Given the description of an element on the screen output the (x, y) to click on. 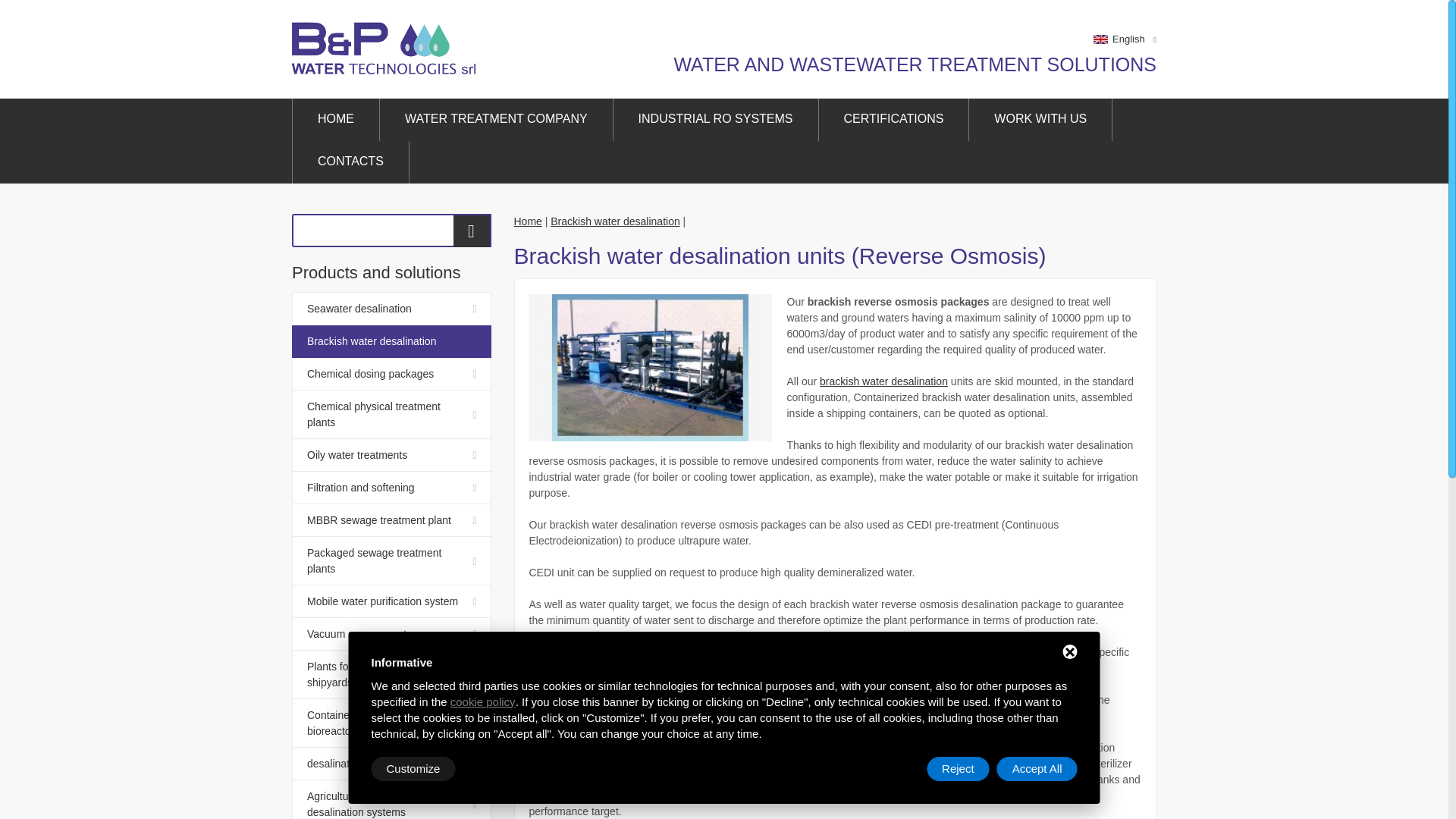
Packaged sewage treatment plants (392, 561)
Work with us (1040, 119)
Chemical dosing packages (392, 373)
WATER TREATMENT COMPANY (496, 119)
Chemical physical treatment plants (392, 414)
Brackish water desalination (614, 221)
HOME (336, 119)
CERTIFICATIONS (893, 119)
Agriculture well water desalination systems (392, 799)
Containerized membrane bioreactors (392, 723)
CERTIFICATIONS (893, 119)
Company description - Water treatment Manufacturer (496, 119)
Oily water treatments (392, 454)
Chemical physical treatment plants (392, 414)
brackish water desalination (620, 747)
